Given the description of an element on the screen output the (x, y) to click on. 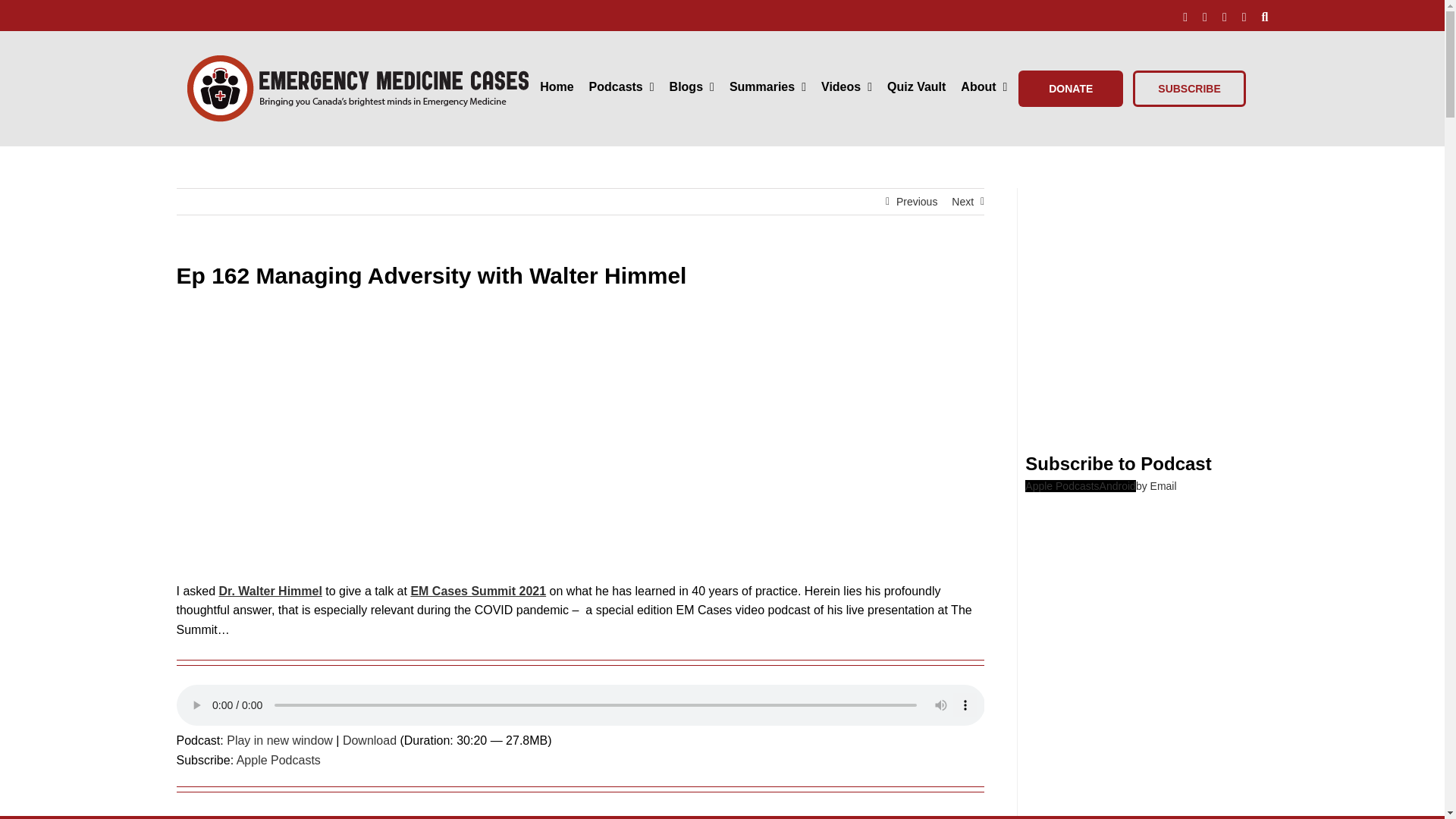
Play in new window (280, 739)
Download (369, 739)
Subscribe on Apple Podcasts (277, 759)
